Given the description of an element on the screen output the (x, y) to click on. 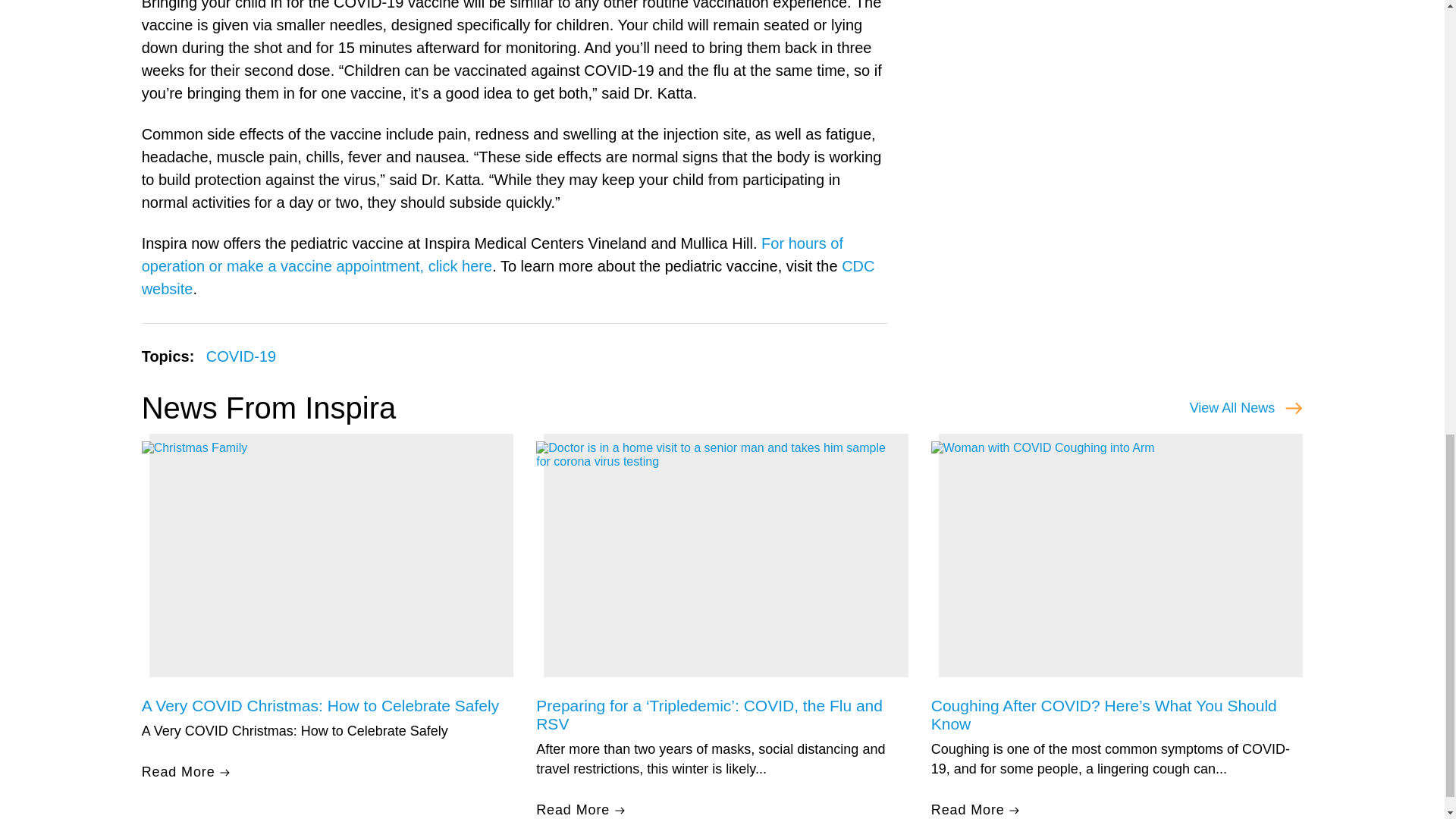
CDC website (508, 277)
COVID-19 (241, 356)
